Given the description of an element on the screen output the (x, y) to click on. 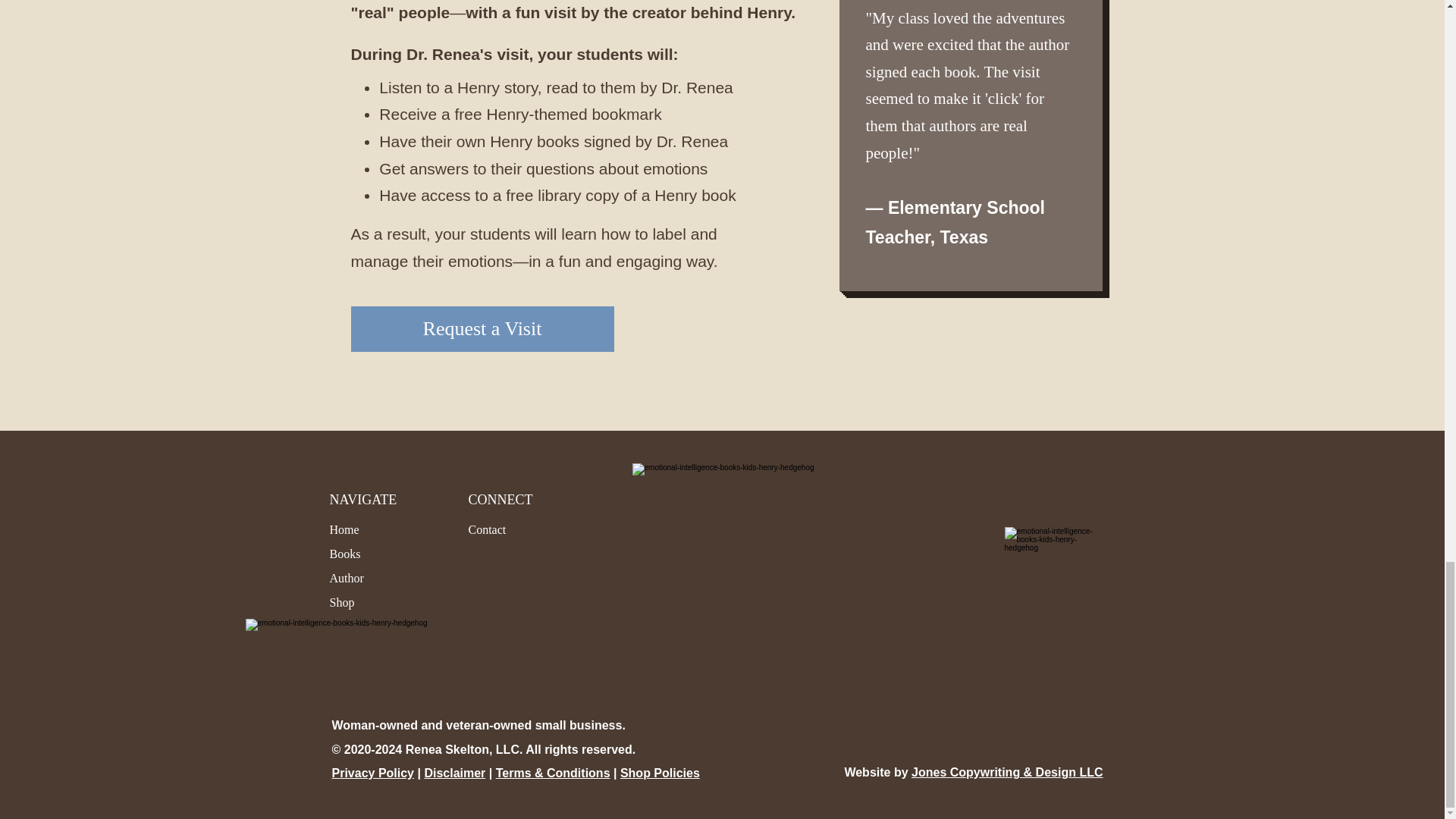
Home (343, 529)
Shop Policies (660, 772)
Shop (341, 602)
Privacy Policy (372, 772)
Disclaimer (453, 772)
Contact (487, 529)
Books (344, 553)
Author (345, 577)
Request a Visit (481, 329)
